Given the description of an element on the screen output the (x, y) to click on. 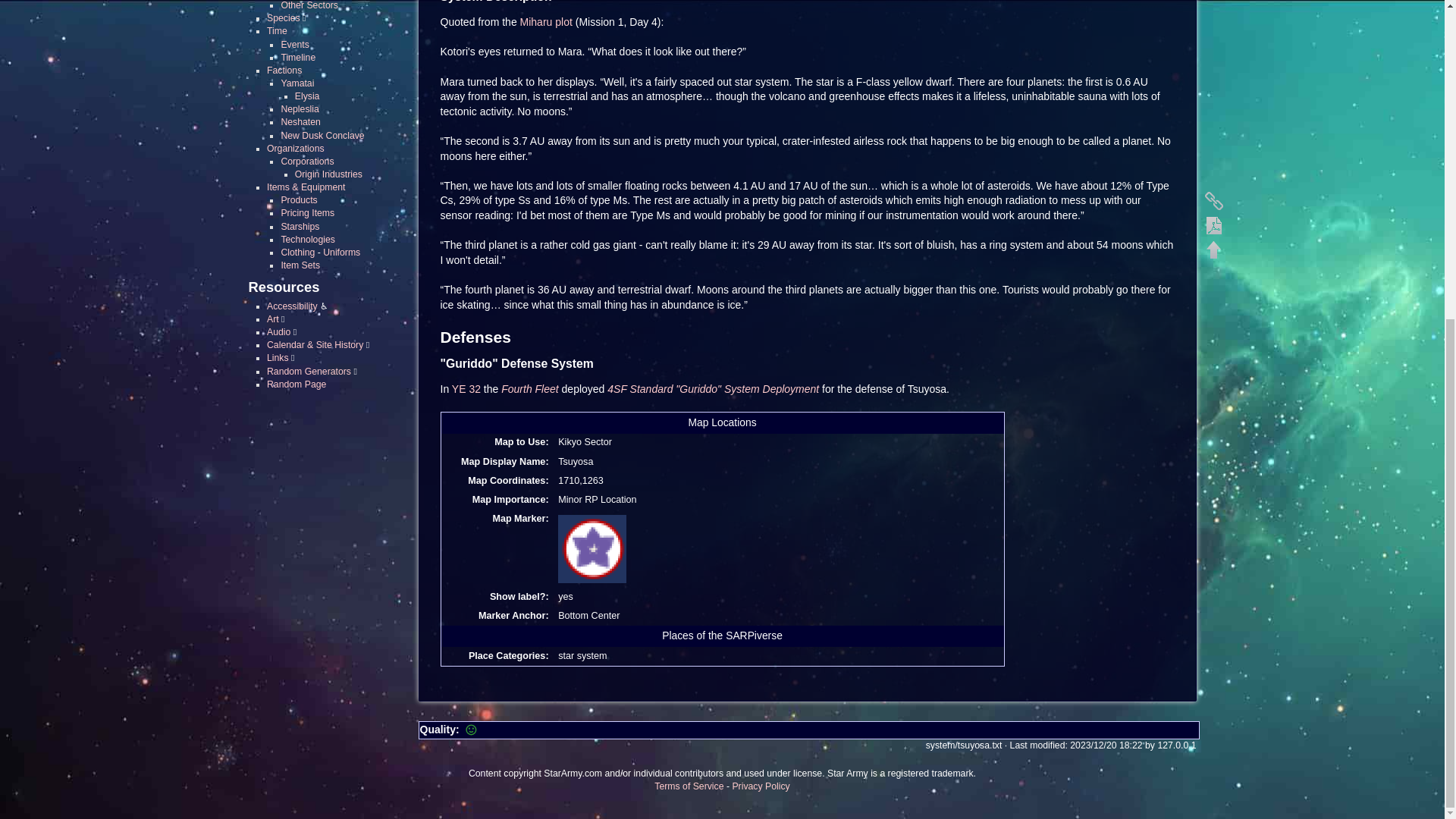
Factions (283, 70)
Timeline (298, 57)
Yamatai (297, 82)
Other Sectors (309, 5)
Time (276, 30)
Elysia (307, 95)
Corporations (307, 161)
Species (282, 18)
Nepleslia (299, 109)
New Dusk Conclave (322, 135)
Events (294, 44)
Organizations (295, 148)
Neshaten (300, 122)
